Given the description of an element on the screen output the (x, y) to click on. 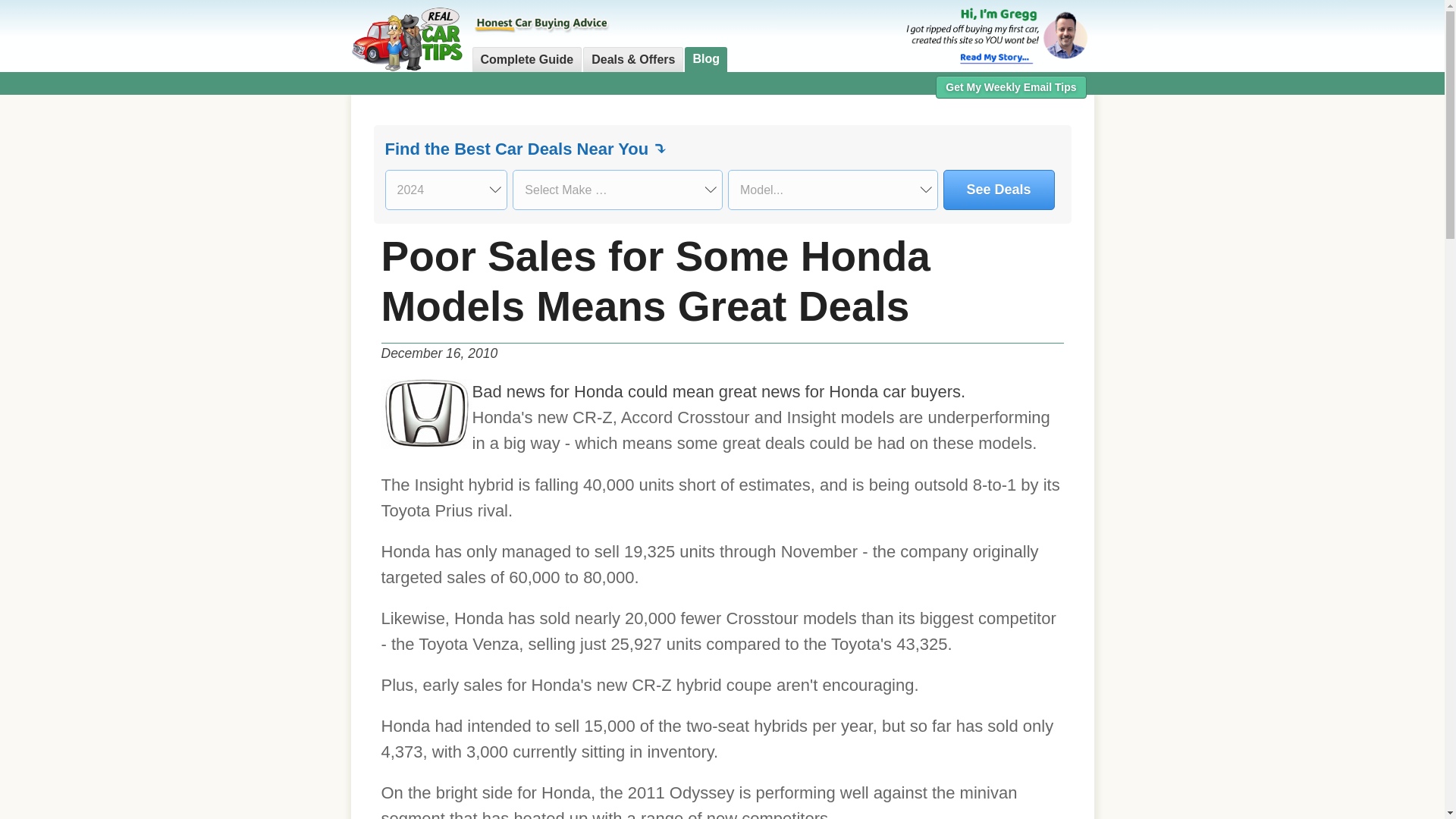
See Deals (998, 189)
Complete Guide (526, 59)
Blog (706, 58)
Get My Weekly Email Tips (1011, 87)
